Given the description of an element on the screen output the (x, y) to click on. 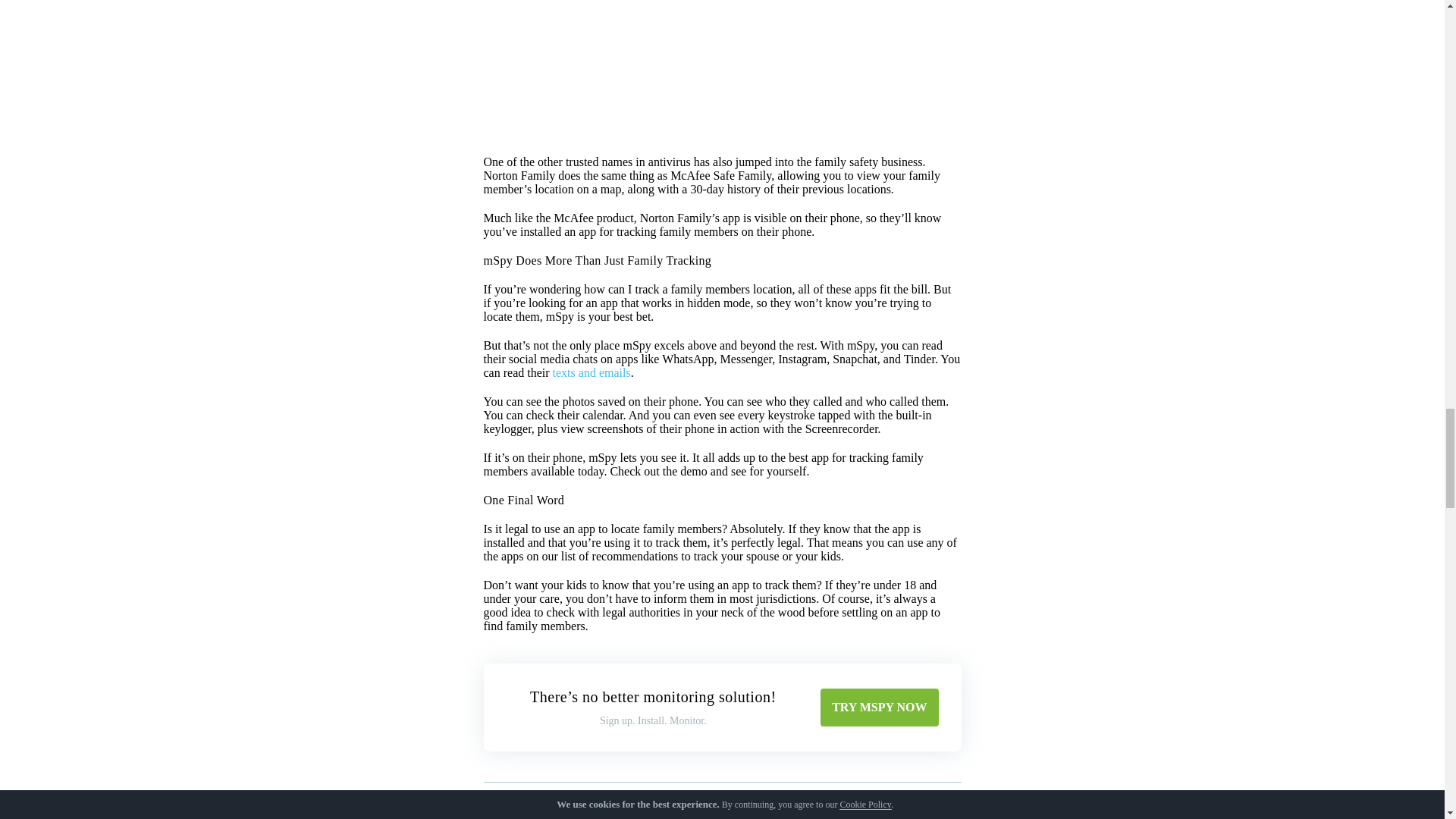
Agnes W Linn (568, 816)
TRY MSPY NOW (879, 707)
texts and emails (591, 372)
